Given the description of an element on the screen output the (x, y) to click on. 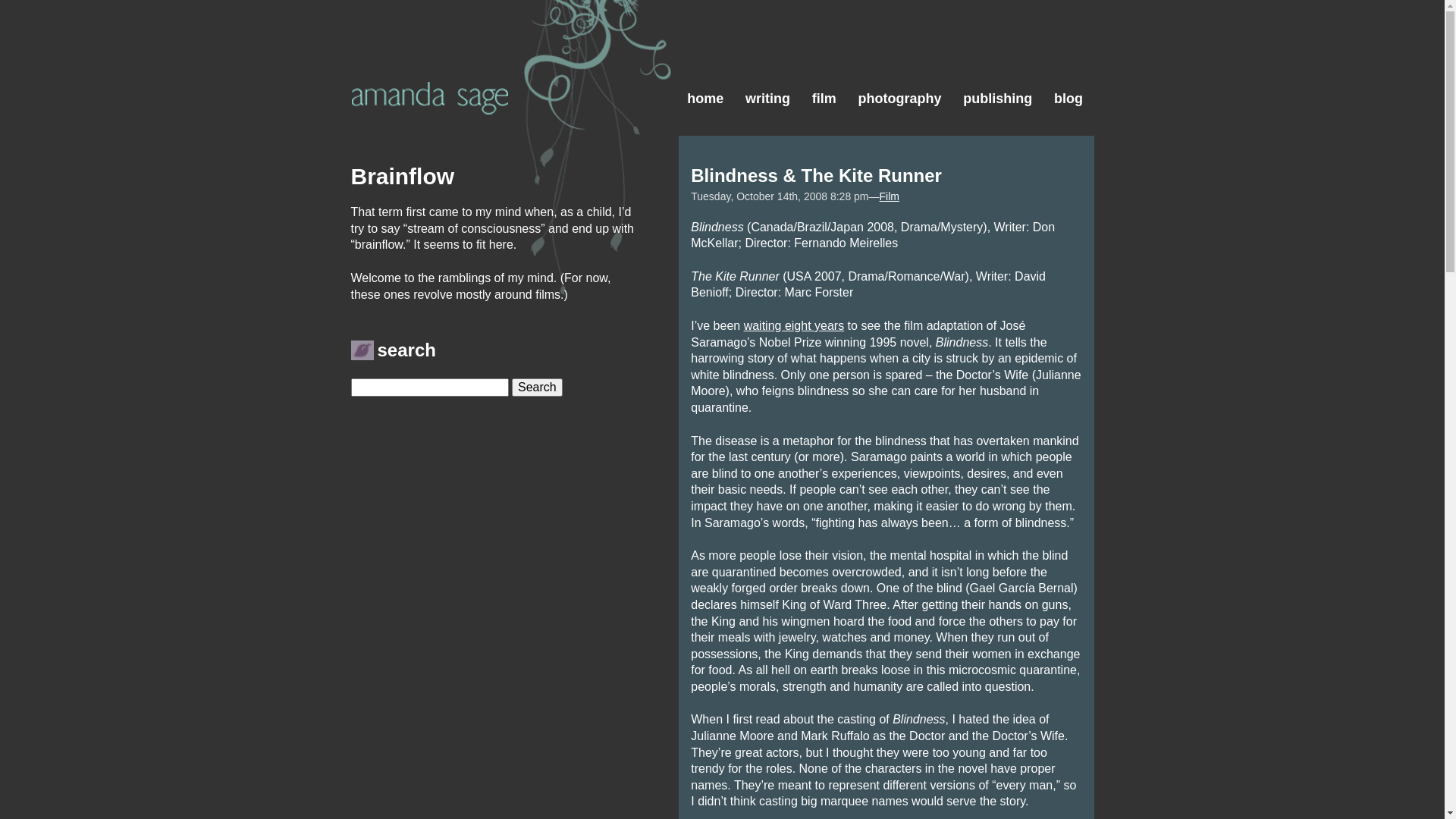
home Element type: text (705, 62)
film Element type: text (823, 62)
waiting eight years Element type: text (793, 325)
blog Element type: text (1068, 62)
Search Element type: text (536, 387)
writing Element type: text (767, 62)
publishing Element type: text (997, 62)
Film Element type: text (889, 196)
photography Element type: text (899, 62)
